Given the description of an element on the screen output the (x, y) to click on. 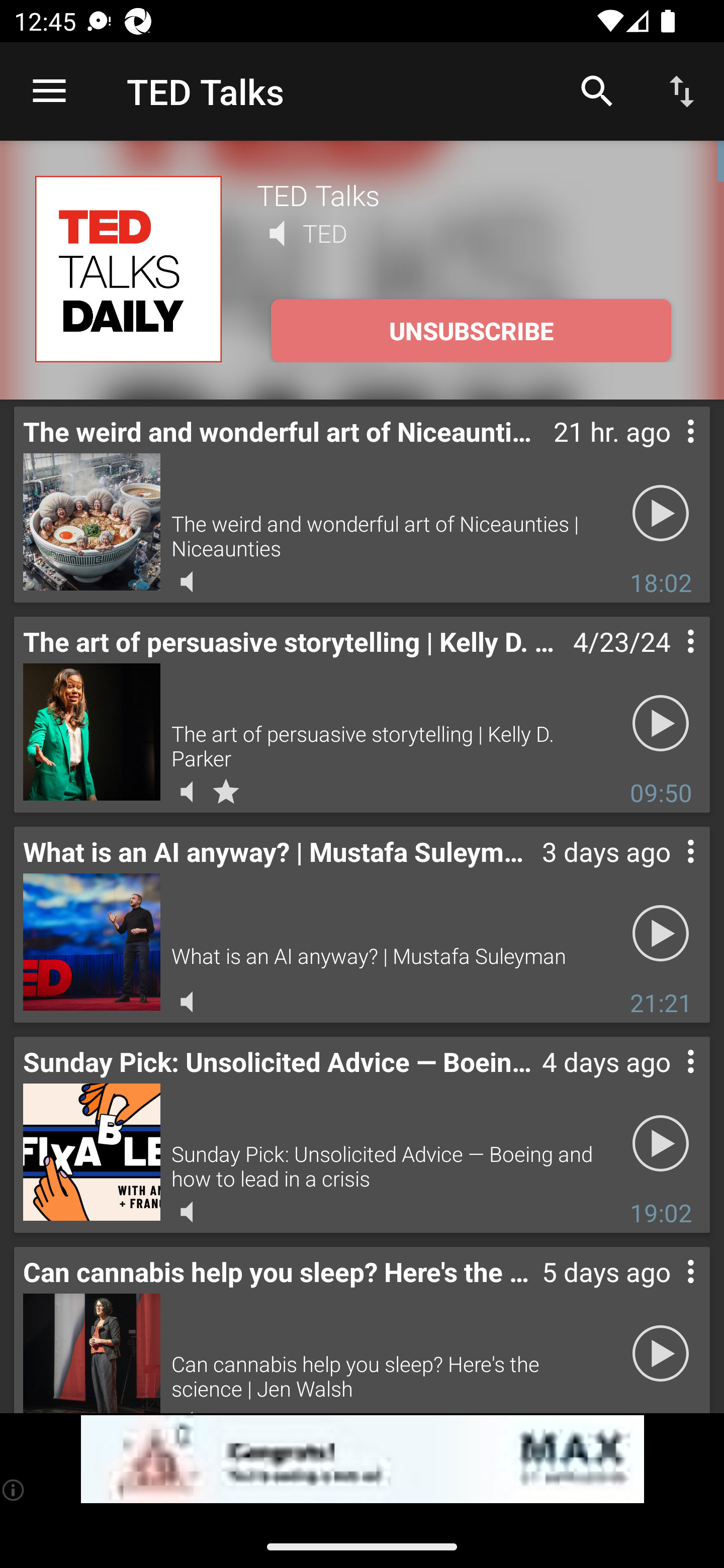
Open navigation sidebar (49, 91)
Search (597, 90)
Sort (681, 90)
UNSUBSCRIBE (470, 330)
Contextual menu (668, 451)
Play (660, 513)
Contextual menu (668, 661)
Play (660, 723)
Contextual menu (668, 870)
Play (660, 933)
Contextual menu (668, 1080)
Play (660, 1143)
Contextual menu (668, 1290)
Play (660, 1353)
app-monetization (362, 1459)
(i) (14, 1489)
